Given the description of an element on the screen output the (x, y) to click on. 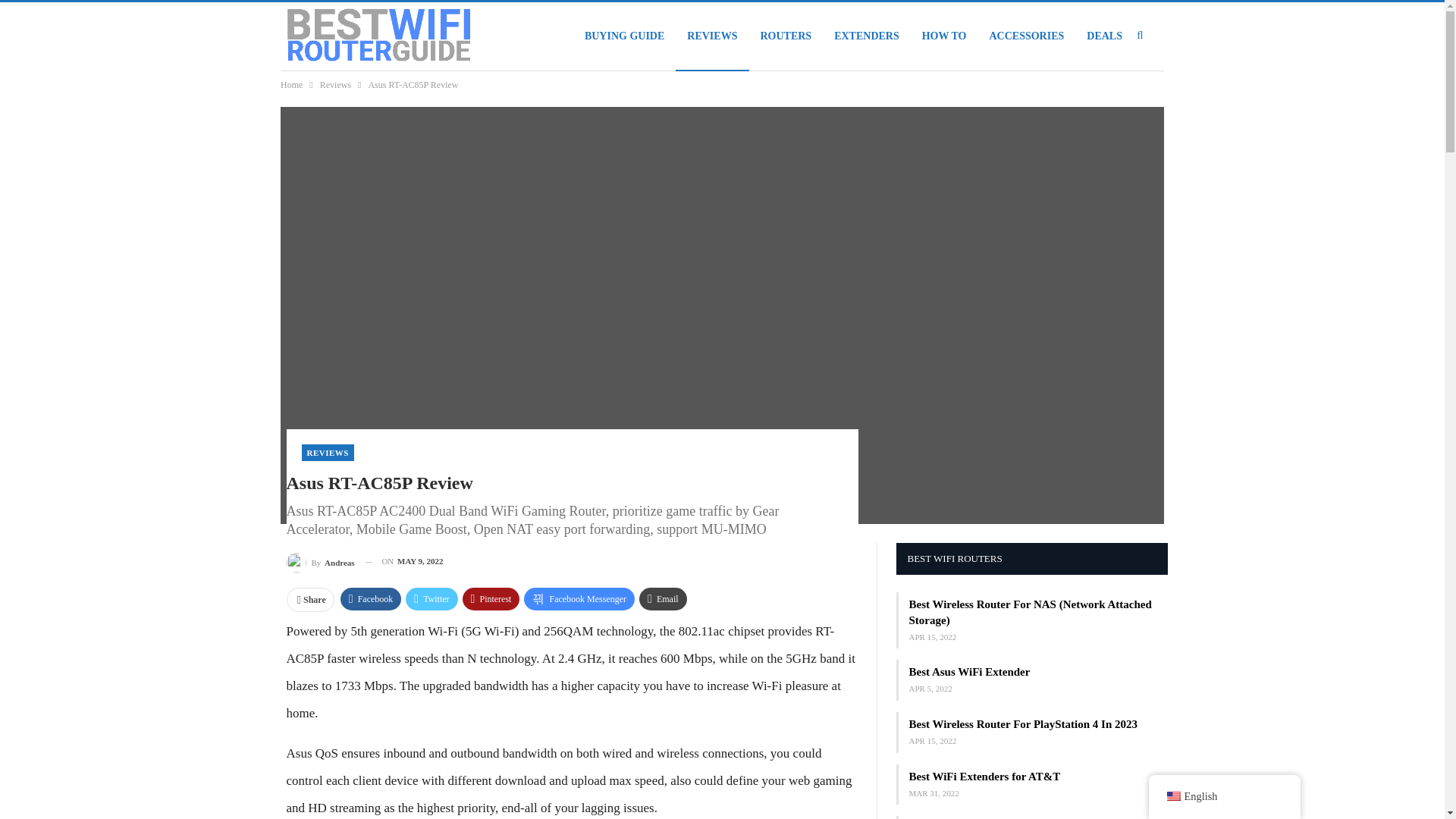
REVIEWS (327, 452)
Facebook Messenger (579, 599)
BUYING GUIDE (624, 36)
Facebook (370, 599)
ROUTERS (785, 36)
Email (663, 599)
Home (291, 84)
REVIEWS (711, 36)
EXTENDERS (866, 36)
ACCESSORIES (1025, 36)
